Given the description of an element on the screen output the (x, y) to click on. 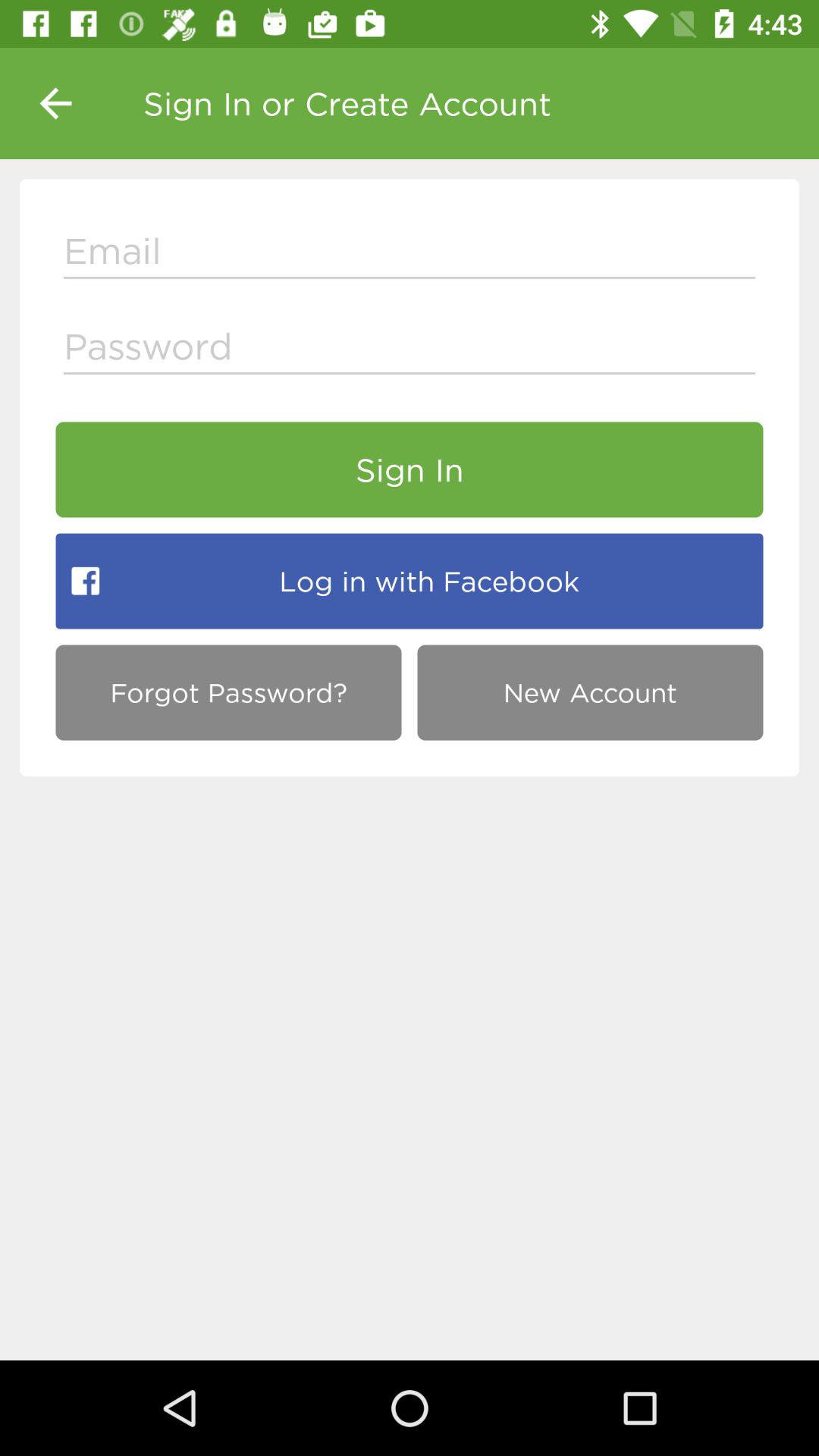
type in password (409, 350)
